Given the description of an element on the screen output the (x, y) to click on. 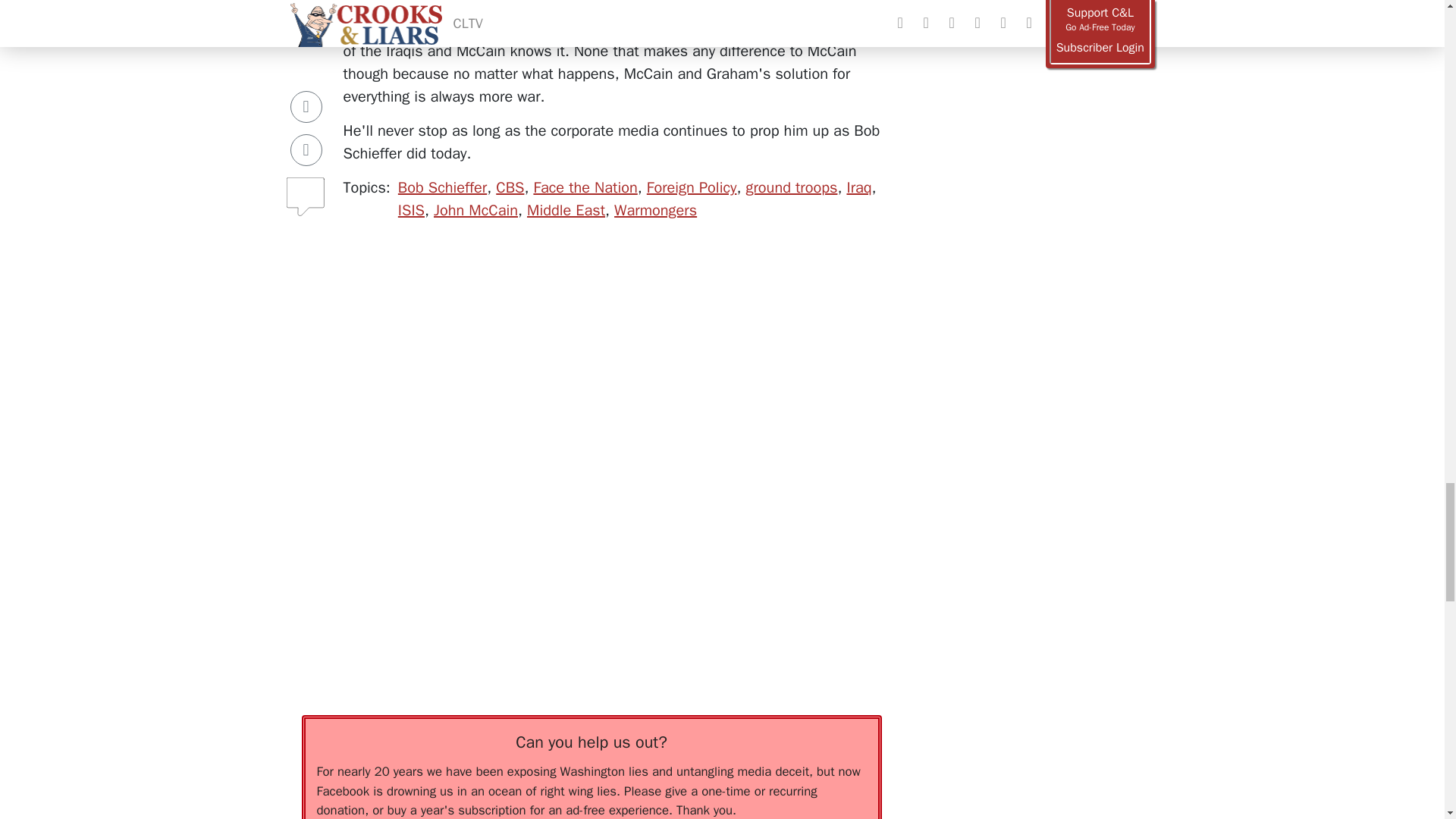
ground troops (791, 187)
Bob Schieffer (441, 187)
Face the Nation (584, 187)
ISIS (411, 210)
John McCain (475, 210)
Iraq (857, 187)
Foreign Policy (691, 187)
CBS (510, 187)
